Given the description of an element on the screen output the (x, y) to click on. 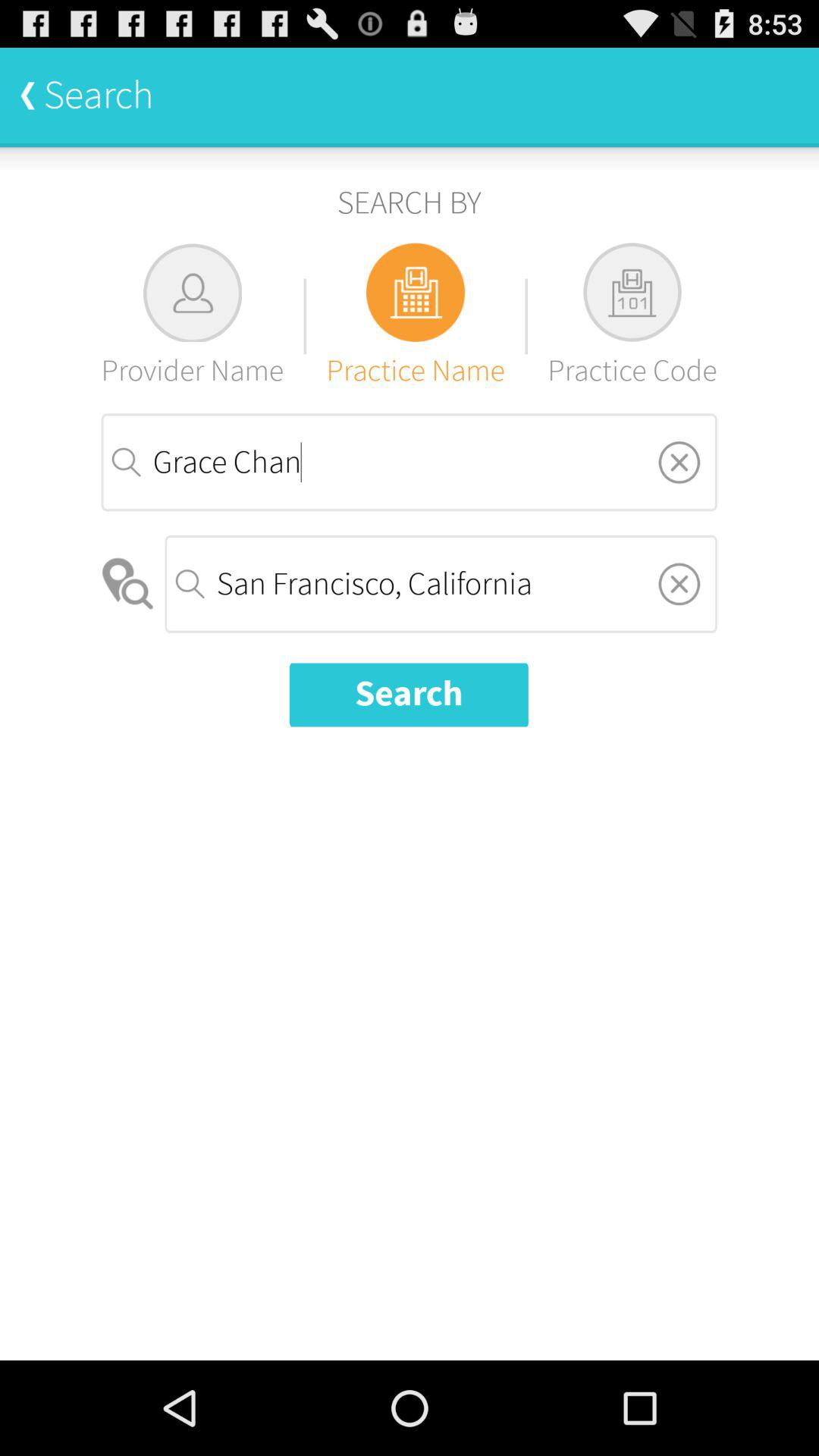
exit (679, 462)
